Given the description of an element on the screen output the (x, y) to click on. 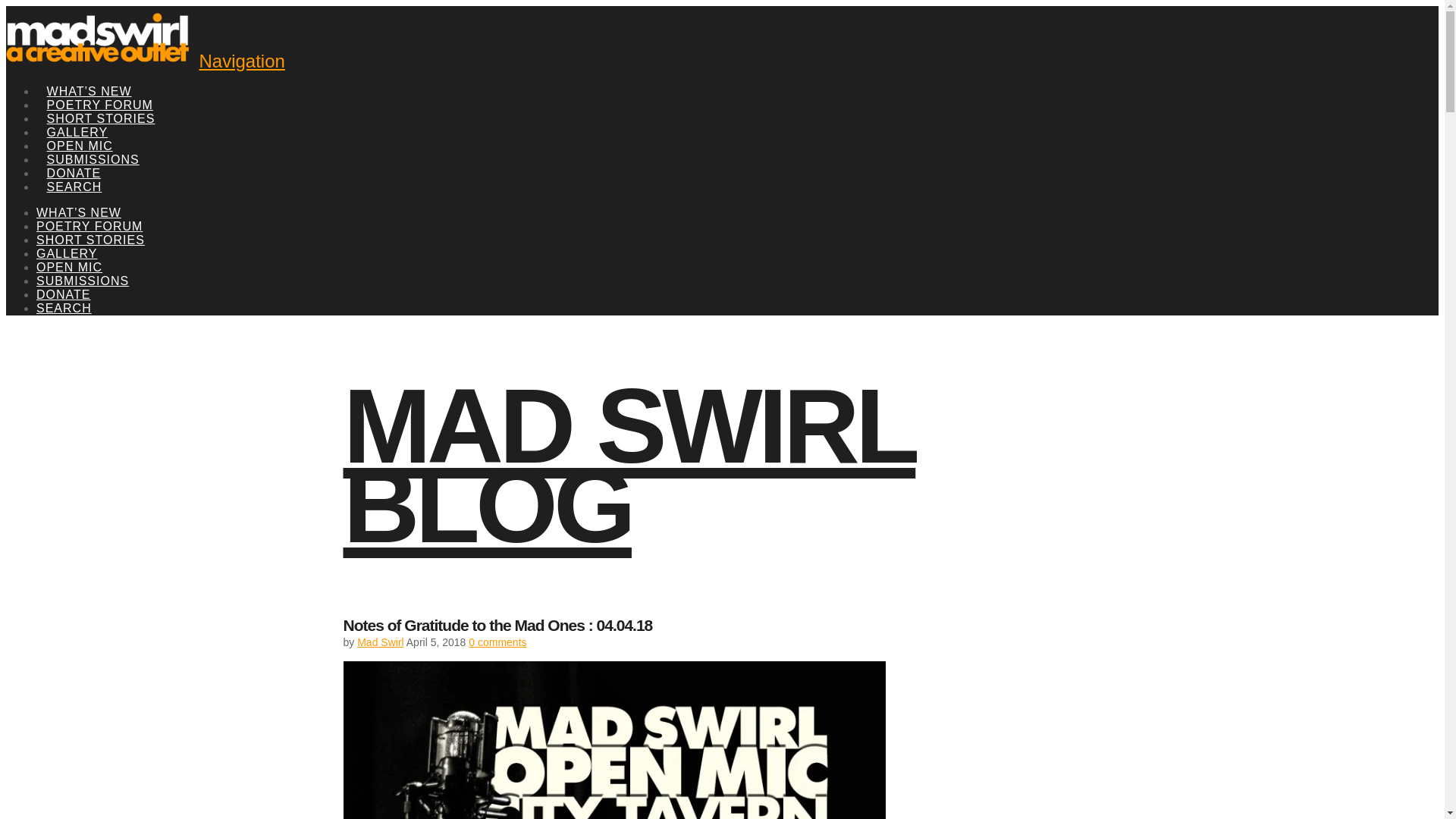
DONATE (74, 155)
The whole mad swirl of everything to come begins now! (100, 59)
post comments (496, 642)
DONATE (63, 294)
SUBMISSIONS (92, 142)
Navigation (240, 60)
Posts by Mad Swirl (379, 642)
Mad Swirl (379, 642)
POETRY FORUM (89, 226)
SHORT STORIES (90, 239)
